Given the description of an element on the screen output the (x, y) to click on. 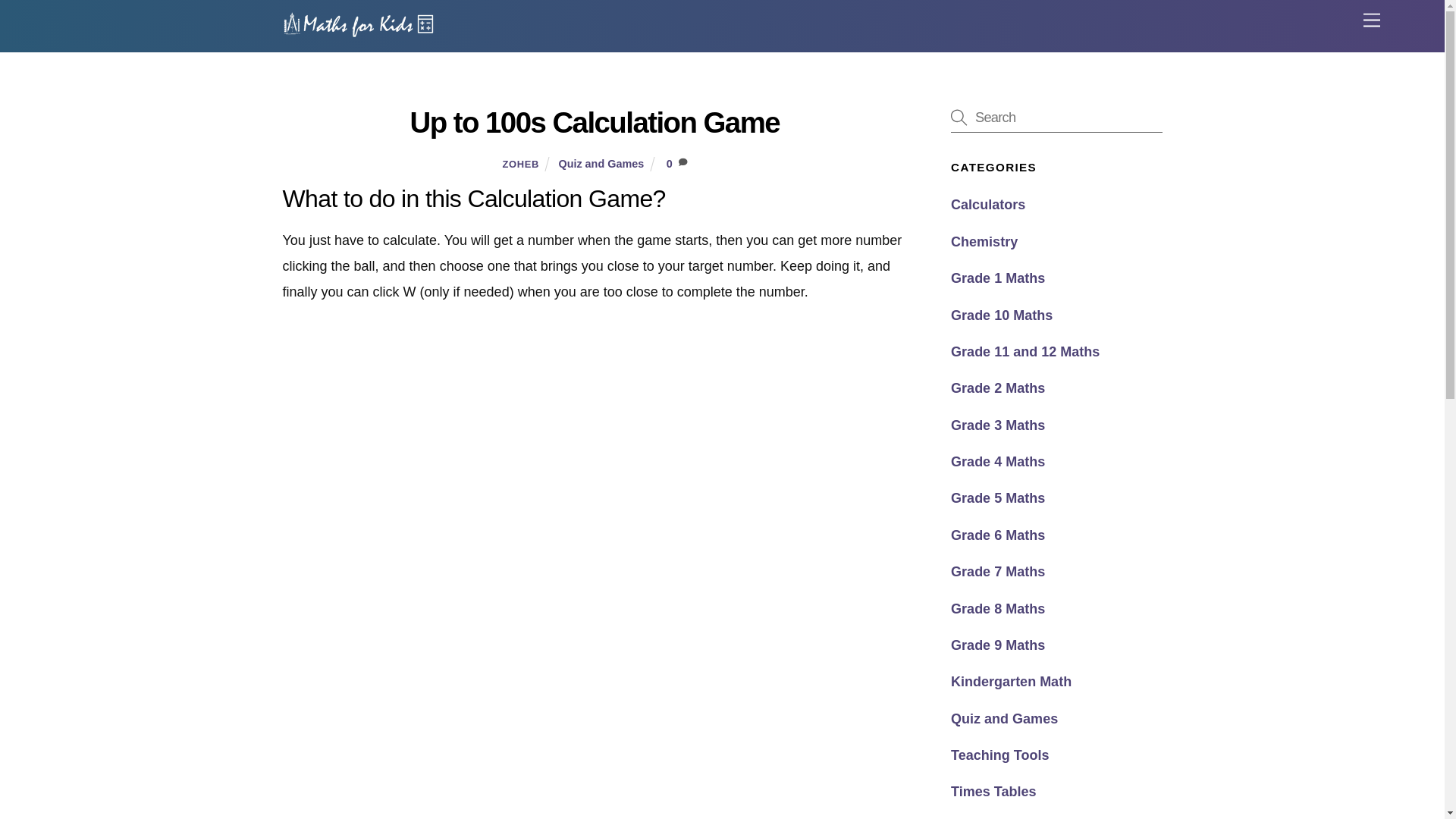
Search (1055, 116)
logo-kids (357, 24)
Quiz and Games (600, 163)
Grade 7 Maths (997, 571)
ZOHEB (520, 163)
Chemistry (983, 241)
Grade 2 Maths (997, 387)
Maths for Kids (357, 32)
Grade 1 Maths (997, 278)
Grade 6 Maths (997, 534)
